Given the description of an element on the screen output the (x, y) to click on. 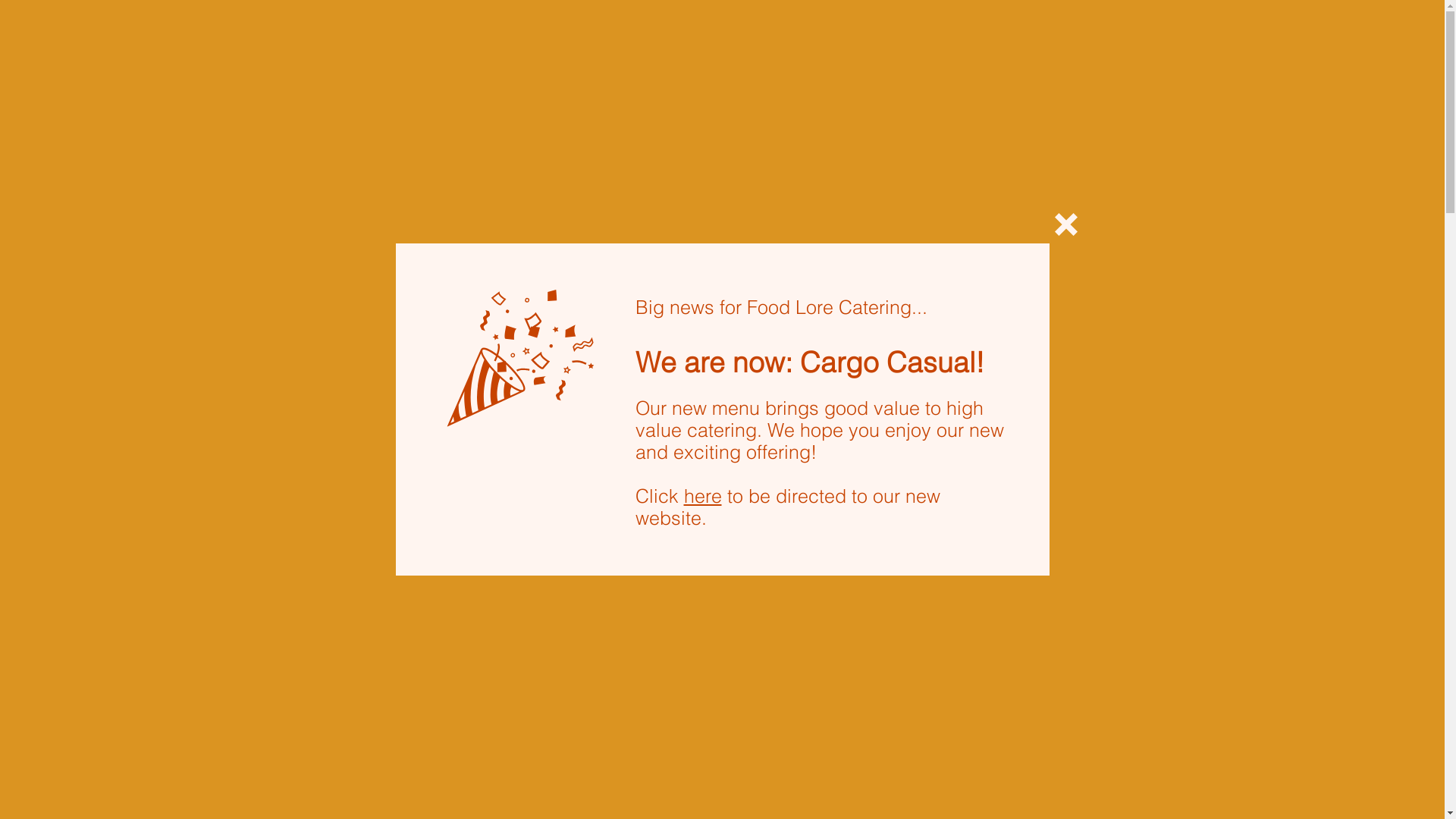
corporate catering menu Element type: text (965, 104)
here Element type: text (702, 495)
Back to site Element type: hover (1065, 224)
